Given the description of an element on the screen output the (x, y) to click on. 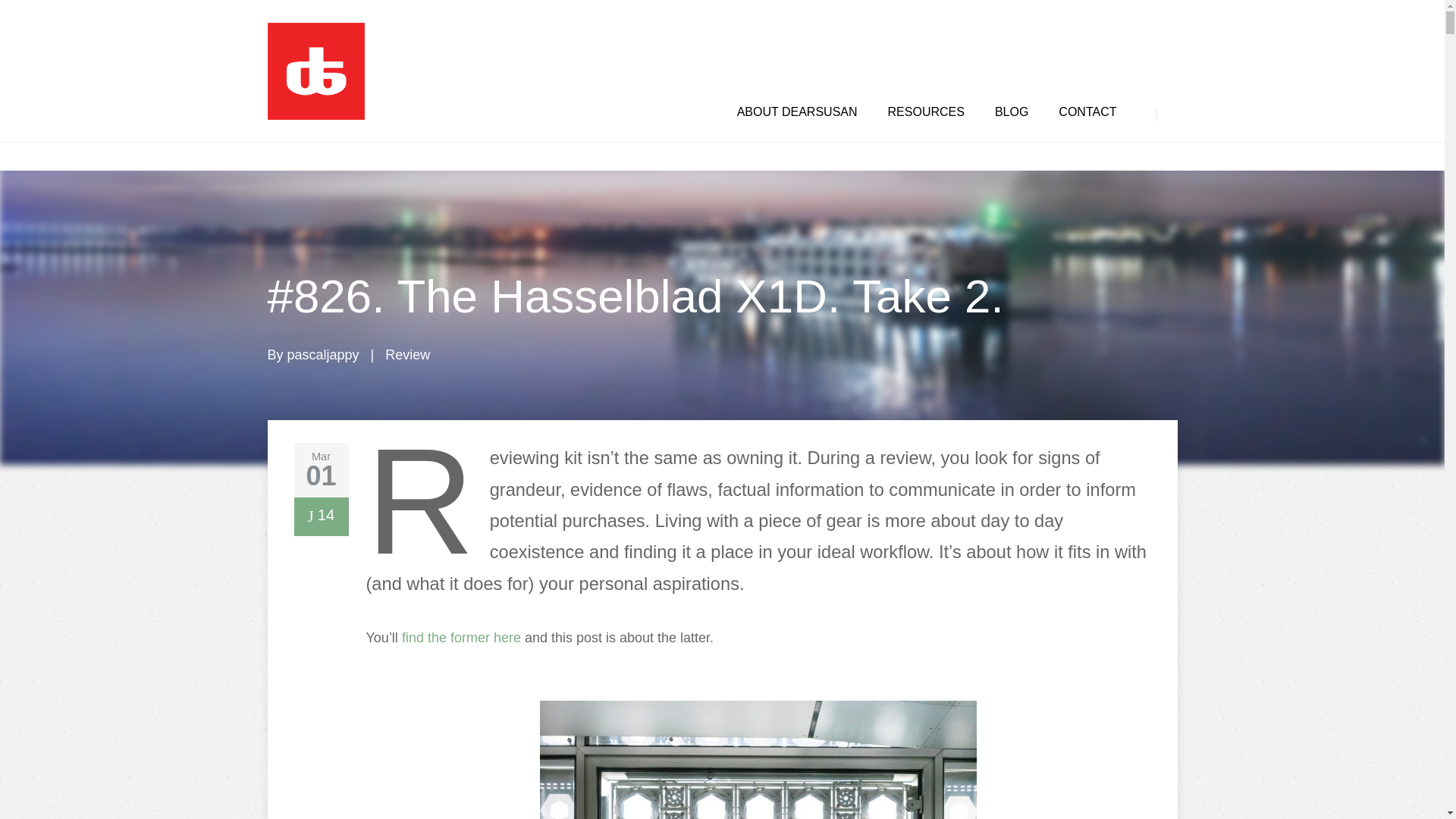
14 (320, 516)
ABOUT DEARSUSAN (796, 111)
CONTACT (1087, 111)
find the former here (461, 637)
RESOURCES (925, 111)
Review (407, 354)
pascaljappy (322, 354)
BLOG (1010, 111)
